Given the description of an element on the screen output the (x, y) to click on. 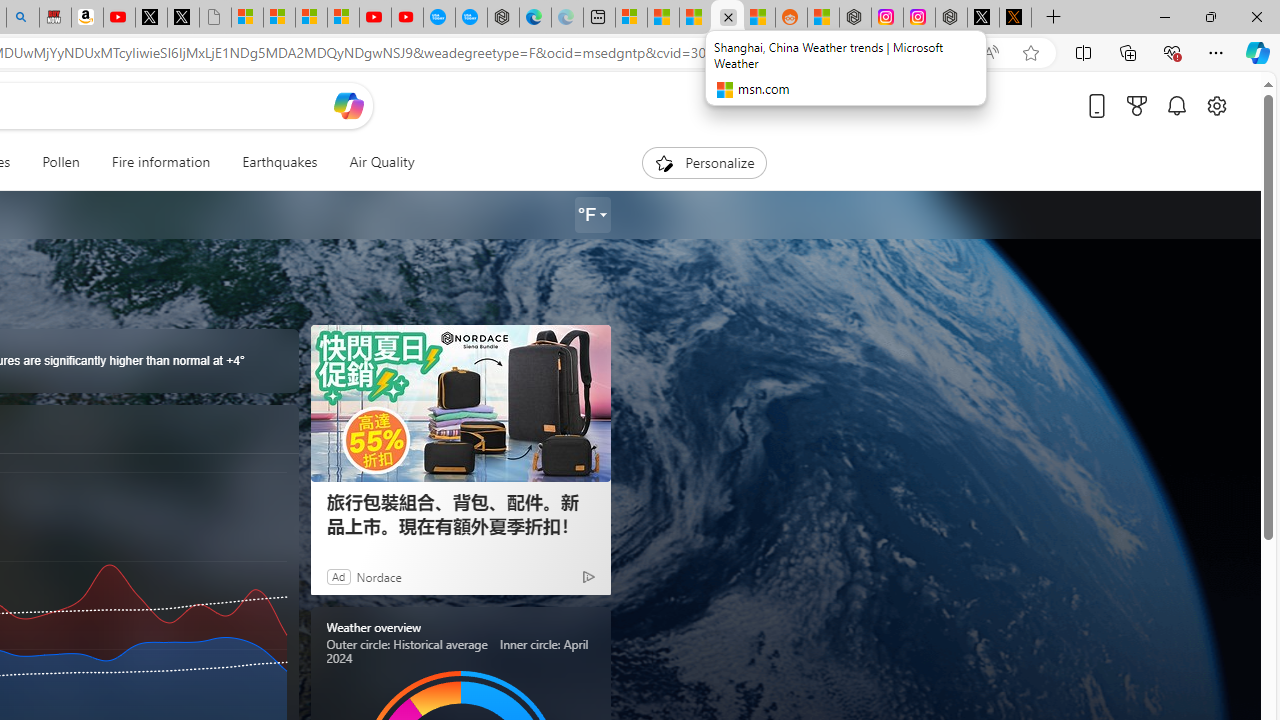
Shanghai, China hourly forecast | Microsoft Weather (694, 17)
